Given the description of an element on the screen output the (x, y) to click on. 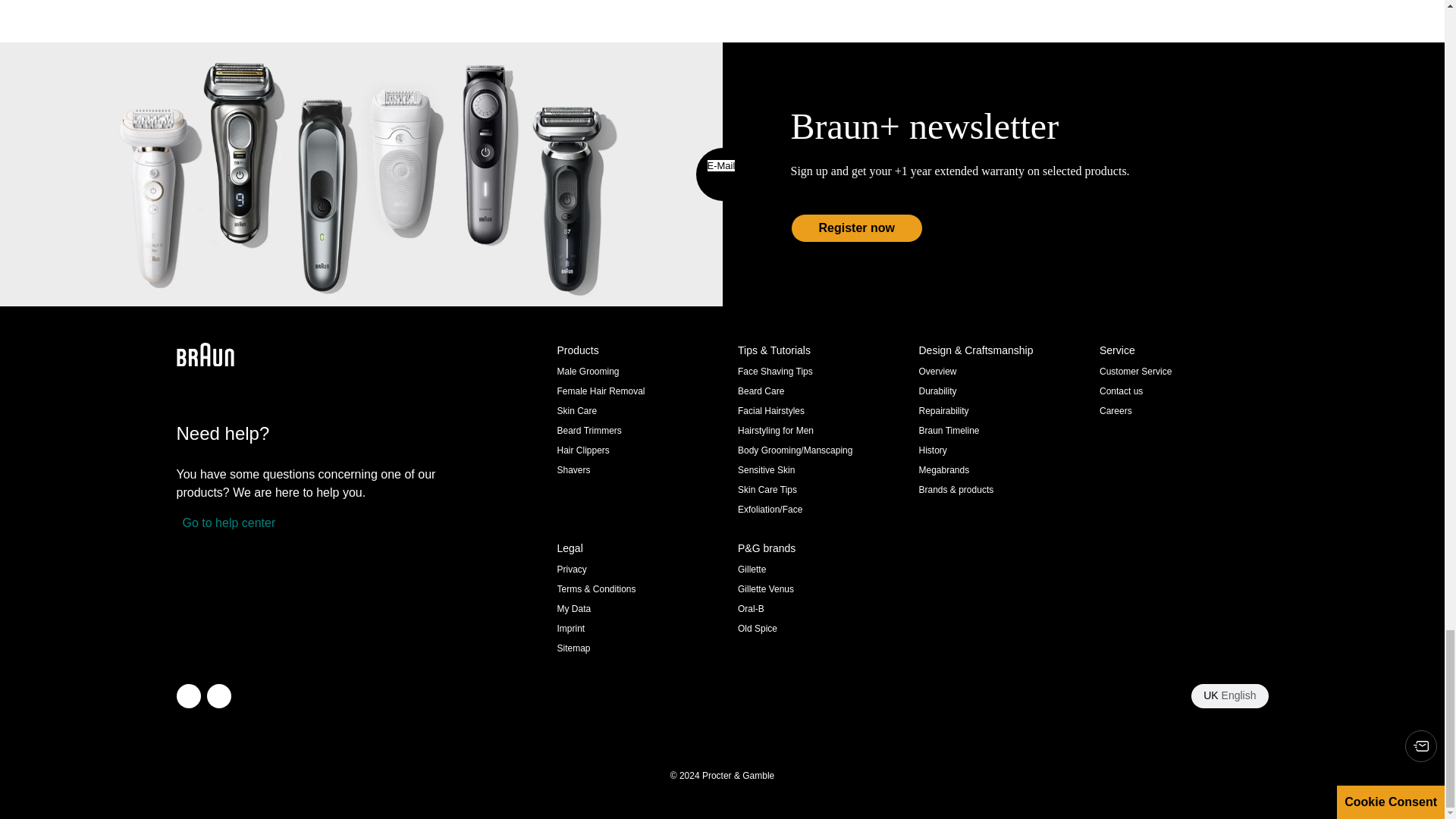
youtube (218, 695)
Shavers (572, 470)
Hair Clippers (582, 450)
Products (640, 350)
Go to help center (225, 523)
Register now (855, 227)
Beard Trimmers (588, 430)
Male Grooming (587, 371)
Register now (855, 227)
instagram (188, 695)
